Given the description of an element on the screen output the (x, y) to click on. 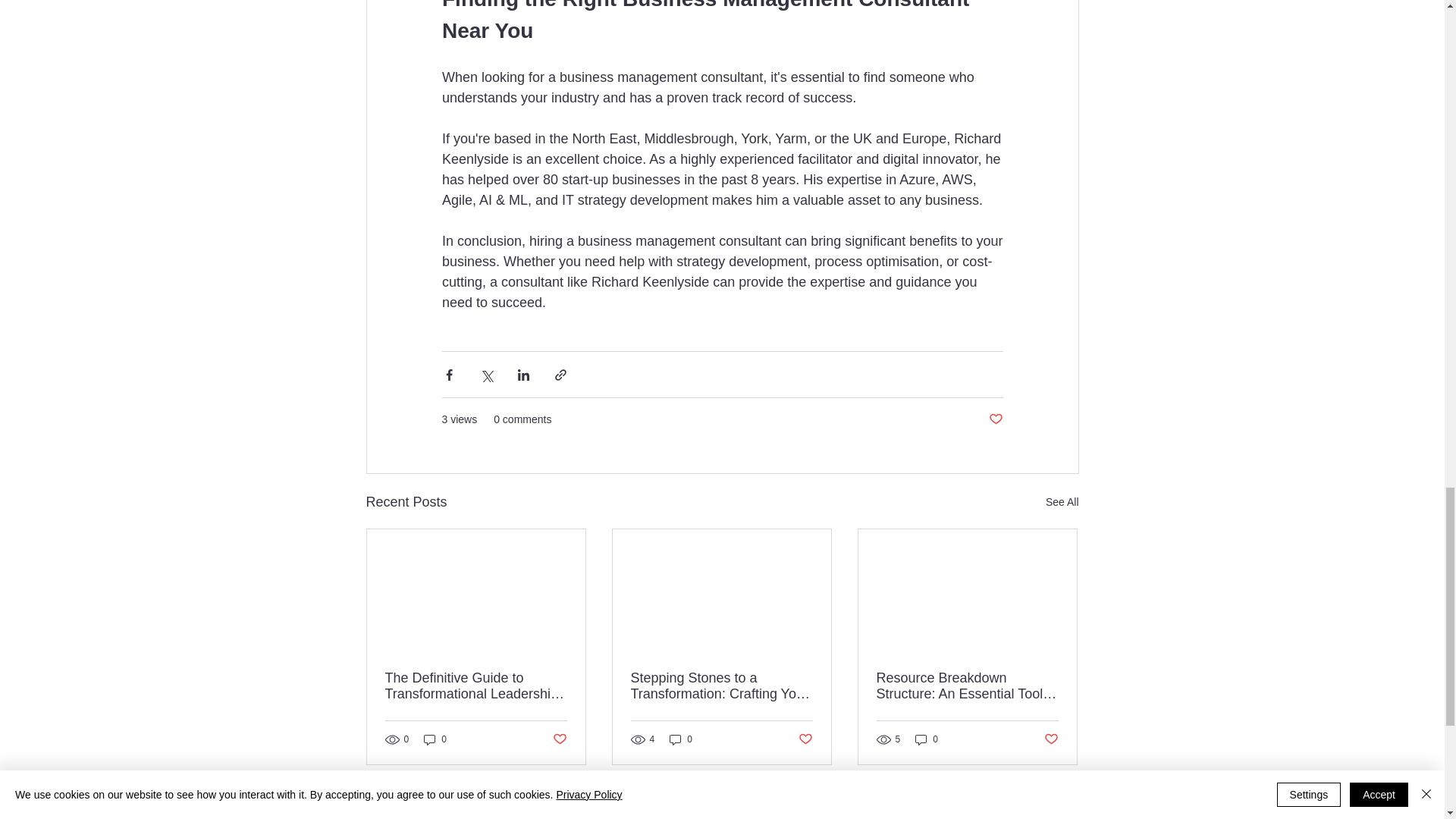
Post not marked as liked (804, 739)
Post not marked as liked (995, 419)
0 (681, 739)
See All (1061, 502)
Post not marked as liked (1050, 739)
0 (926, 739)
Post not marked as liked (558, 739)
0 (435, 739)
